Given the description of an element on the screen output the (x, y) to click on. 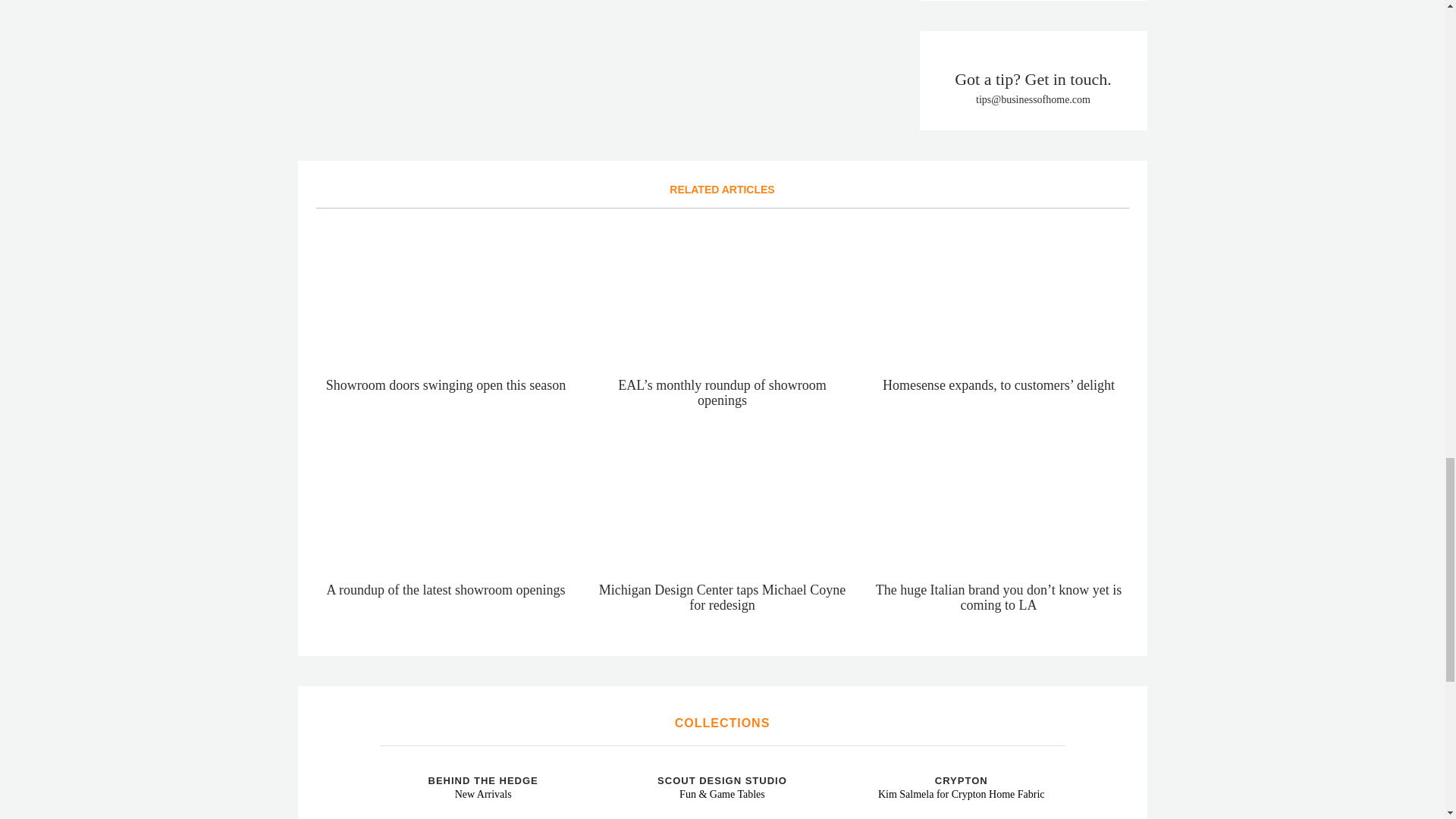
Kim Salmela for Crypton Home Fabric (863, 767)
